Given the description of an element on the screen output the (x, y) to click on. 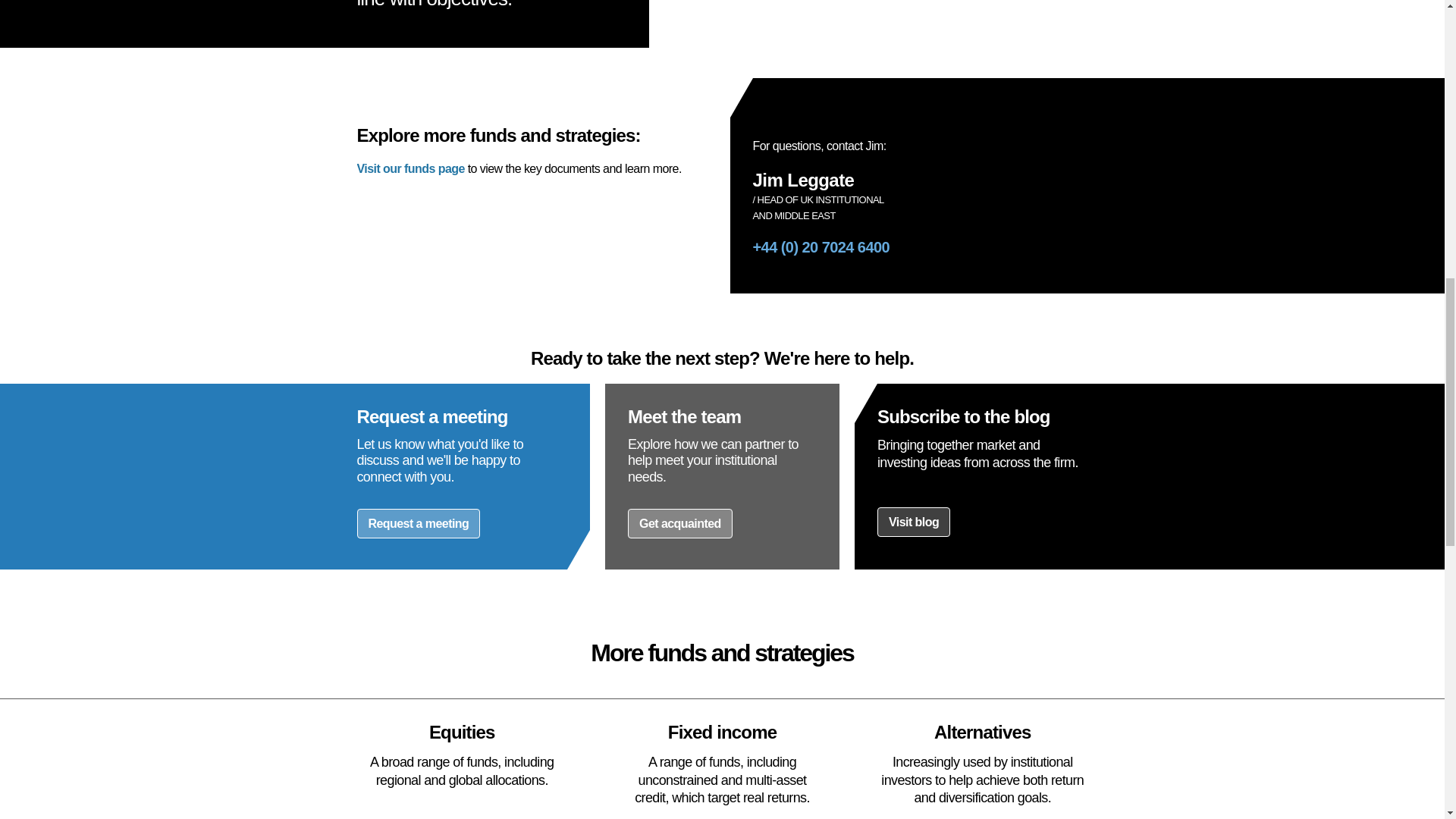
Get acquainted (679, 523)
Visit our funds page (410, 168)
Request a meeting (418, 523)
Visit blog (913, 521)
